Given the description of an element on the screen output the (x, y) to click on. 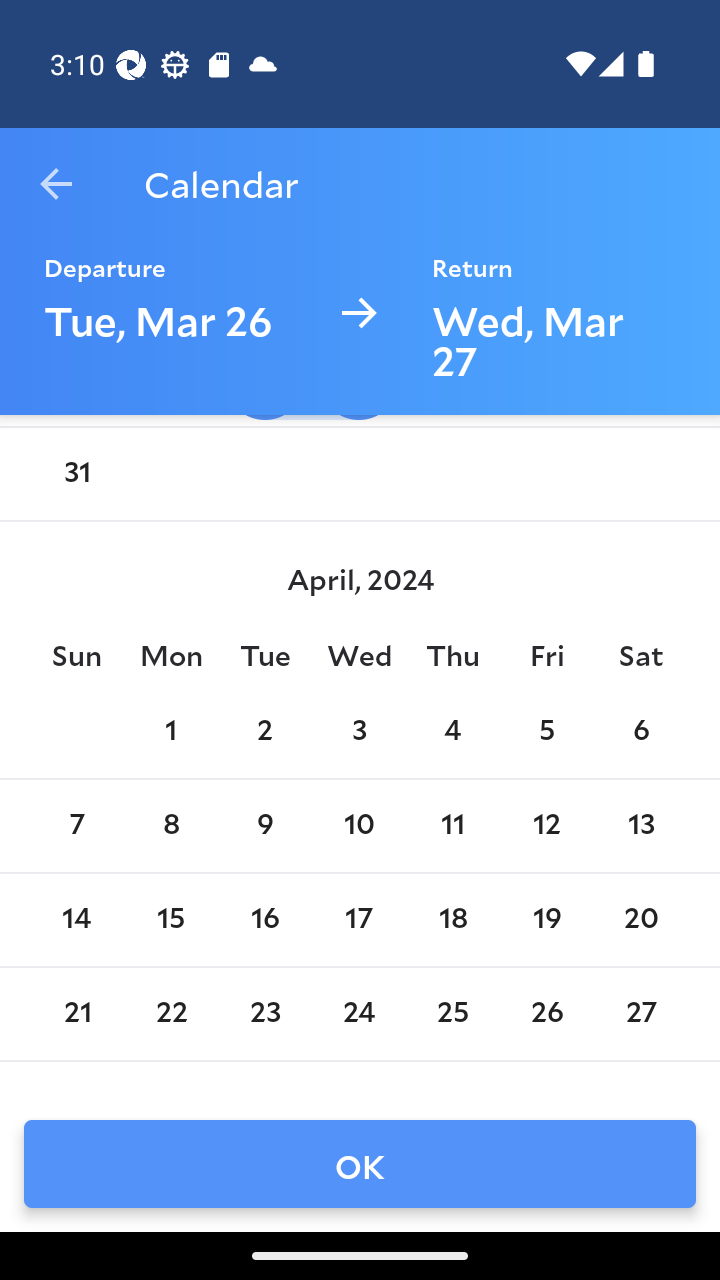
Navigate up (56, 184)
31 (76, 473)
1 (170, 731)
2 (264, 731)
3 (358, 731)
4 (453, 731)
5 (546, 731)
6 (641, 731)
7 (76, 825)
8 (170, 825)
9 (264, 825)
10 (358, 825)
11 (453, 825)
12 (546, 825)
13 (641, 825)
14 (76, 920)
15 (170, 920)
16 (264, 920)
17 (358, 920)
18 (453, 920)
19 (546, 920)
20 (641, 920)
21 (76, 1013)
22 (170, 1013)
23 (264, 1013)
24 (358, 1013)
25 (453, 1013)
26 (546, 1013)
27 (641, 1013)
OK (359, 1164)
